Given the description of an element on the screen output the (x, y) to click on. 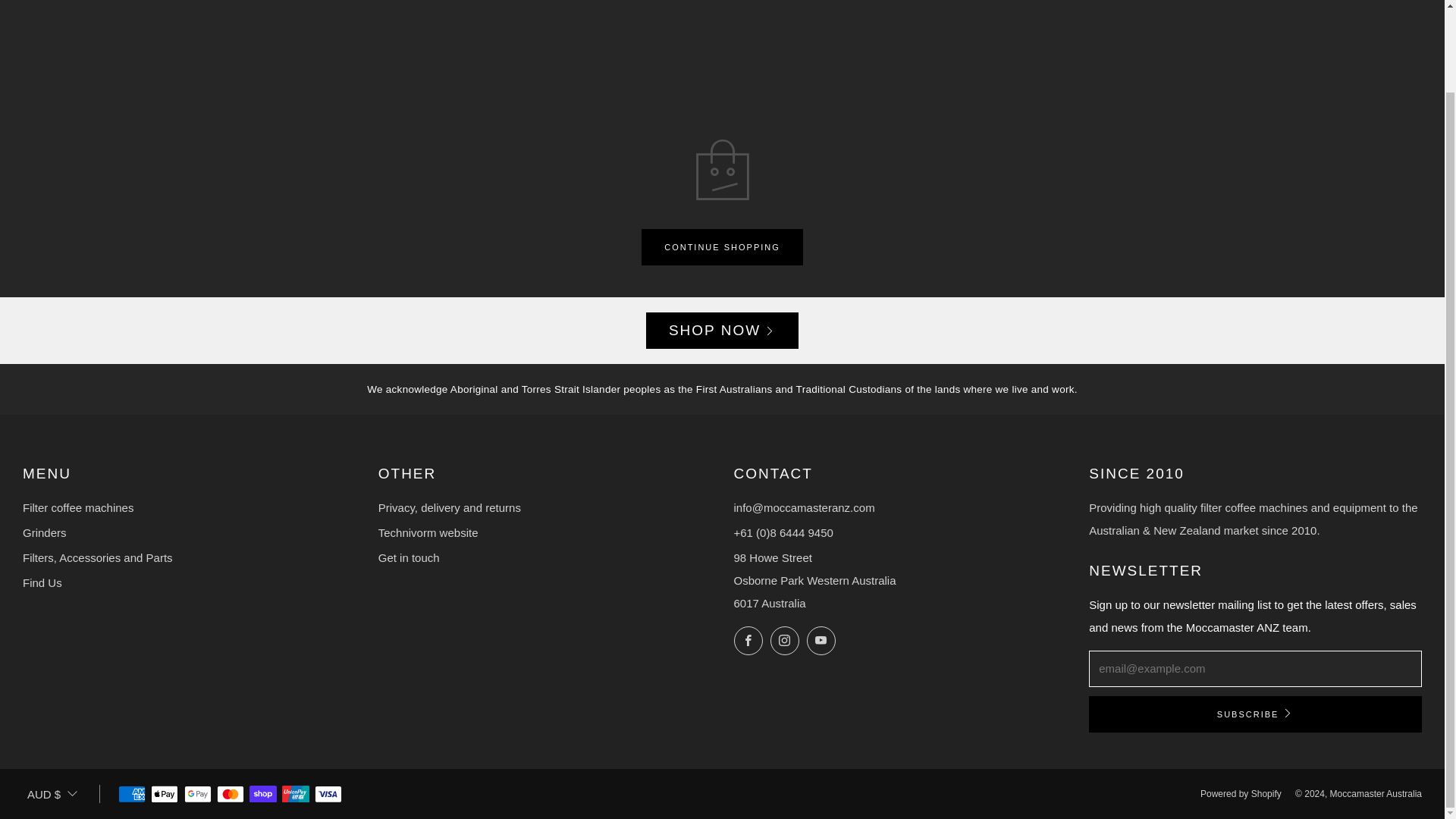
Shop Pay (262, 794)
Apple Pay (164, 794)
Visa (328, 794)
Union Pay (295, 794)
Google Pay (197, 794)
Mastercard (230, 794)
American Express (131, 794)
